Given the description of an element on the screen output the (x, y) to click on. 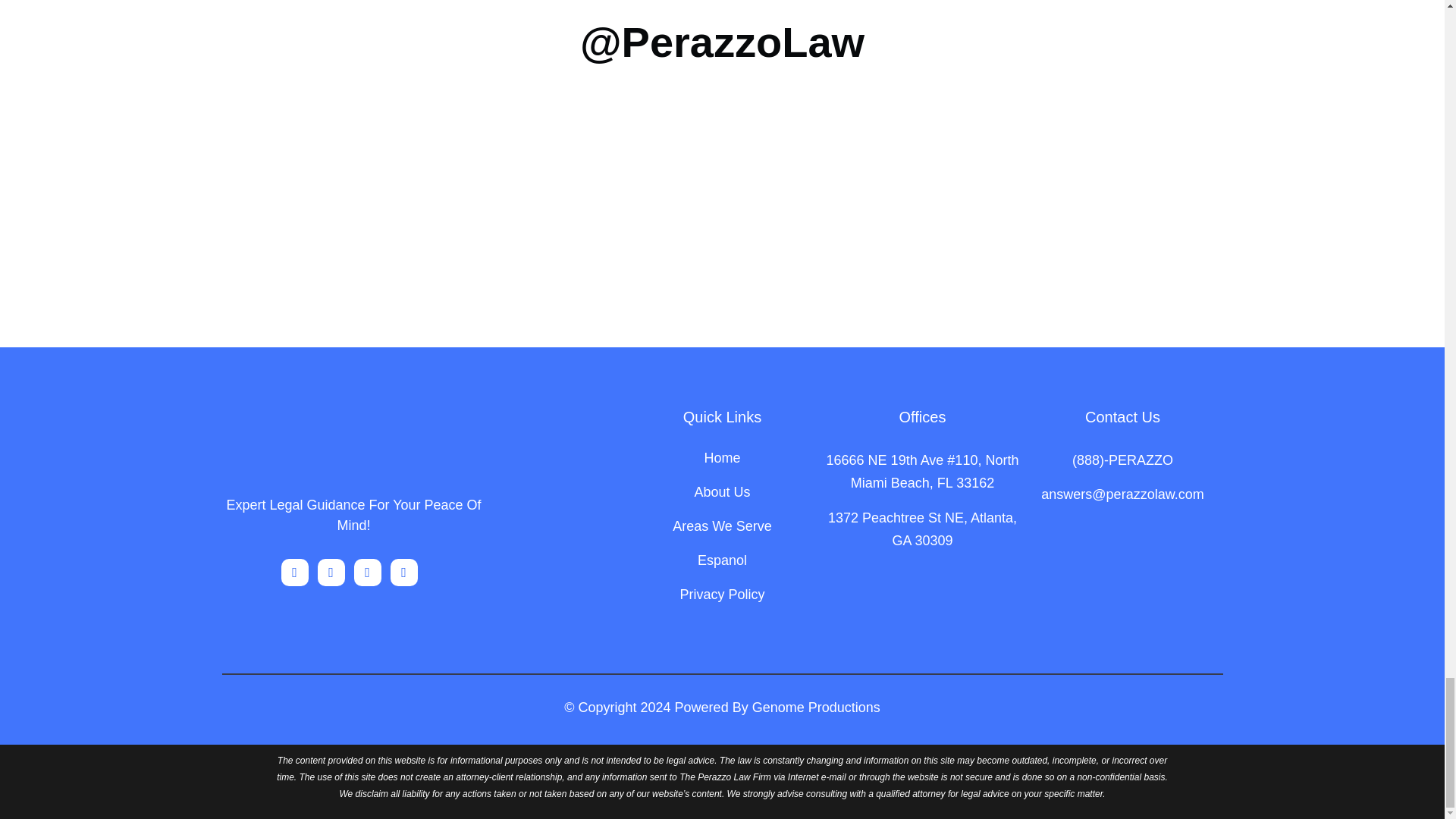
Espanol (721, 568)
Facebook-f (330, 572)
Linkedin-in (366, 572)
Instagram (294, 572)
About Us (721, 499)
Areas We Serve (721, 533)
Privacy Policy (721, 602)
Youtube (403, 572)
Home (721, 465)
